Given the description of an element on the screen output the (x, y) to click on. 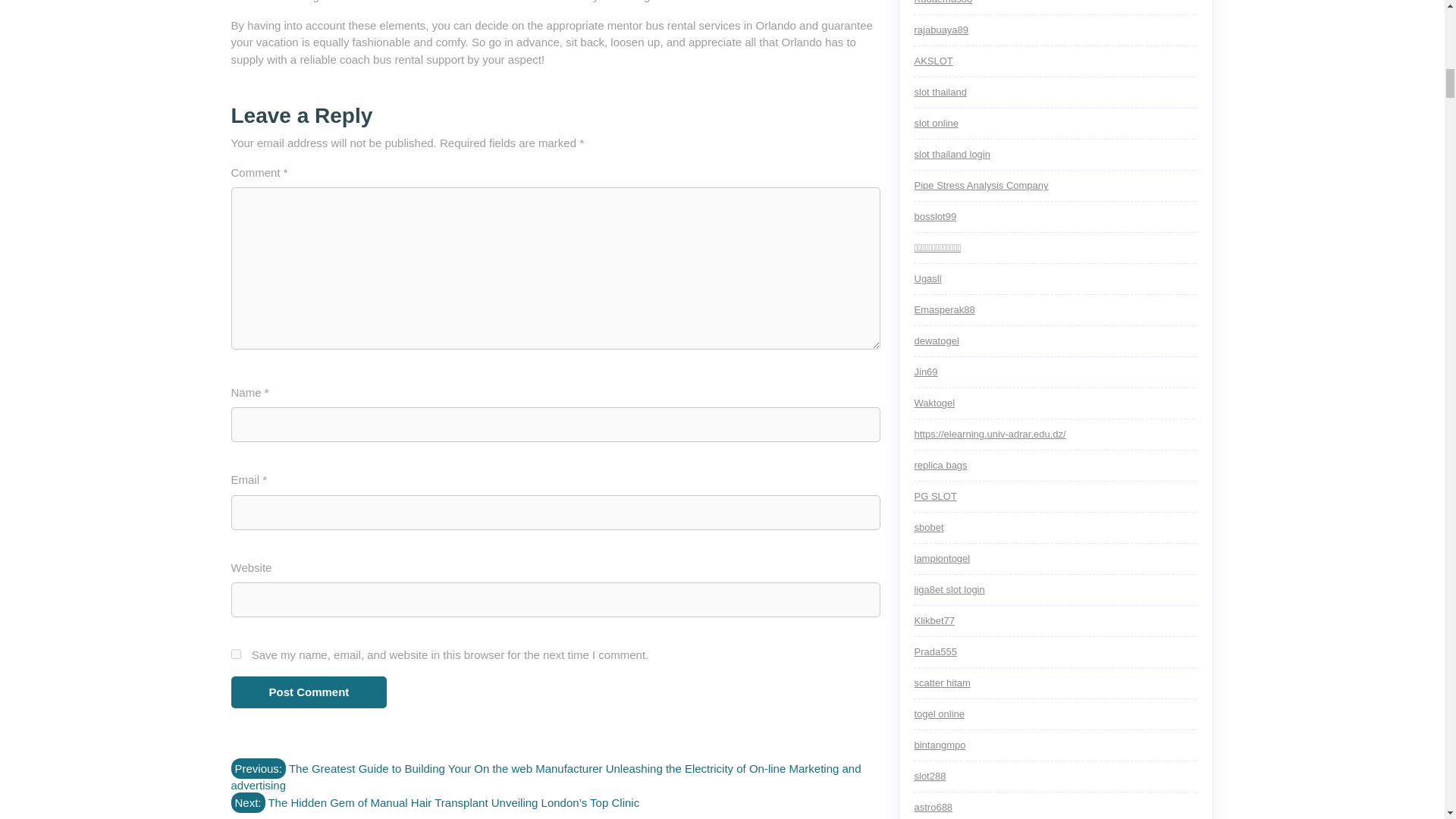
yes (235, 654)
Post Comment (308, 692)
Post Comment (308, 692)
